Given the description of an element on the screen output the (x, y) to click on. 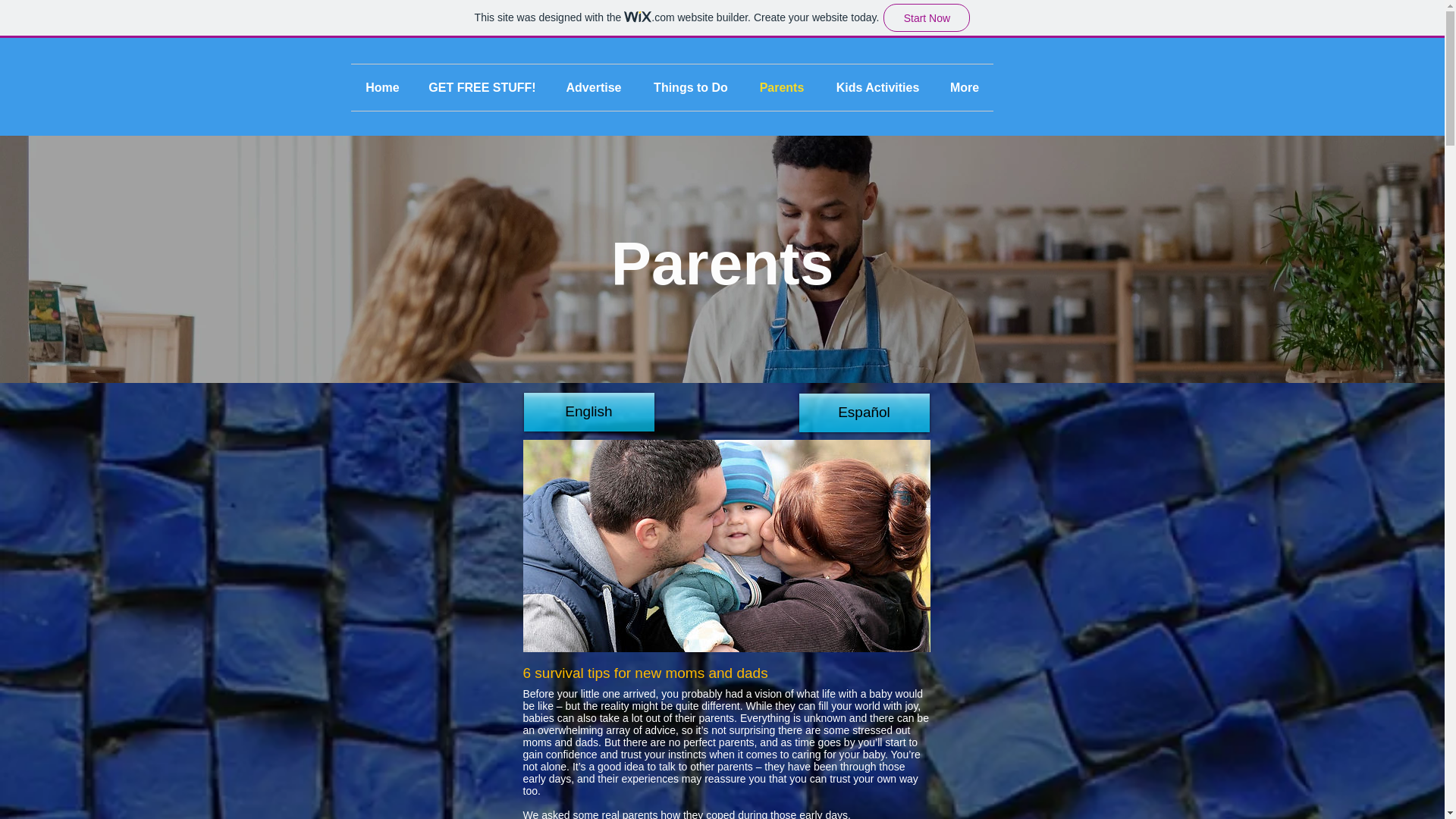
English (587, 412)
Things to Do (690, 87)
Kids Activities (877, 87)
Home (381, 87)
survival tips mom and dad (726, 545)
GET FREE STUFF! (481, 87)
Advertise (593, 87)
Parents (781, 87)
